Given the description of an element on the screen output the (x, y) to click on. 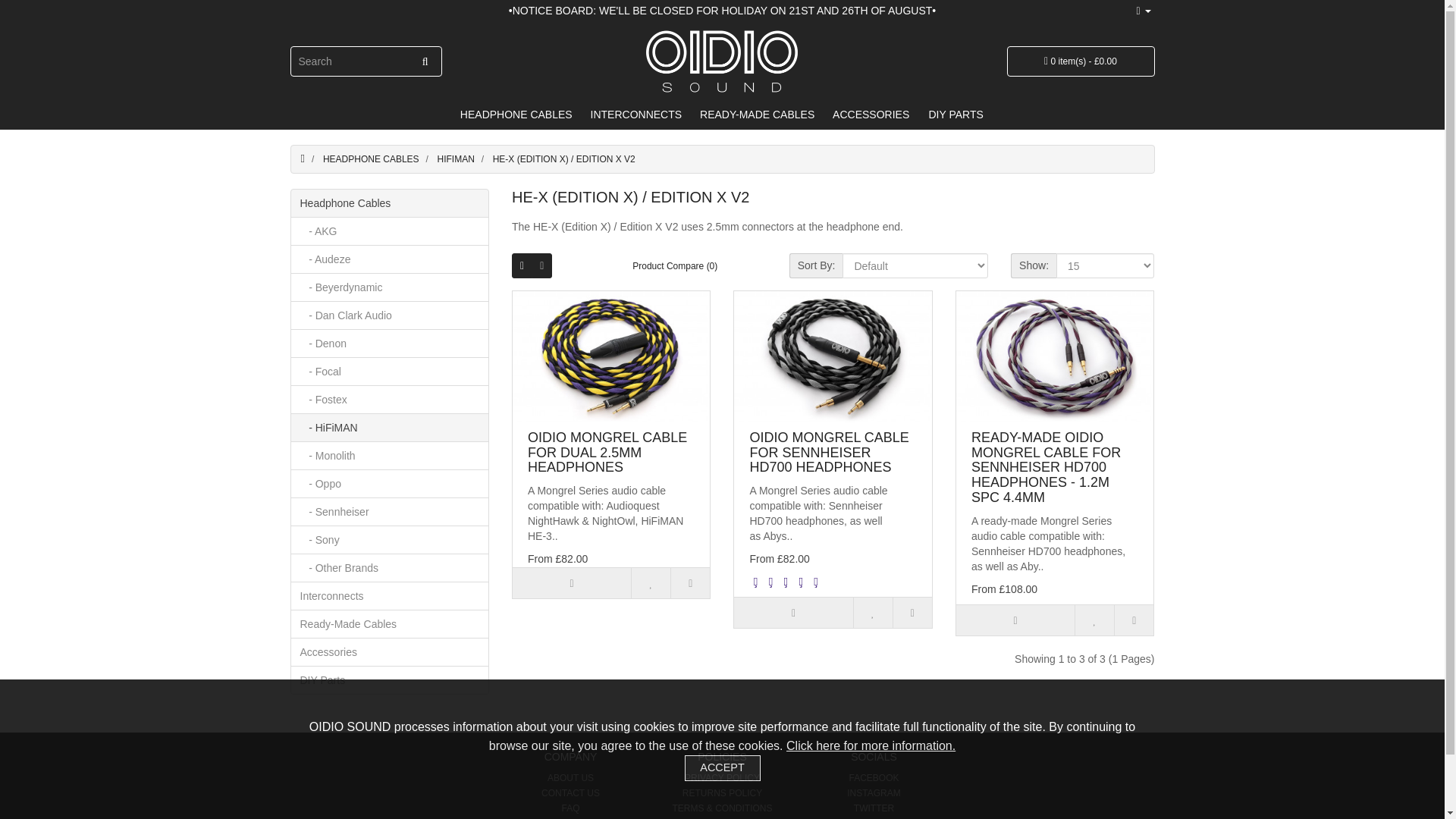
READY-MADE CABLES (757, 114)
OIDIO Mongrel Cable for Sennheiser HD700 Headphones (832, 357)
My Account (1142, 10)
INTERCONNECTS (636, 114)
ACCESSORIES (871, 114)
OIDIO Mongrel Cable for Dual 2.5mm Headphones (611, 357)
HEADPHONE CABLES (515, 114)
